Given the description of an element on the screen output the (x, y) to click on. 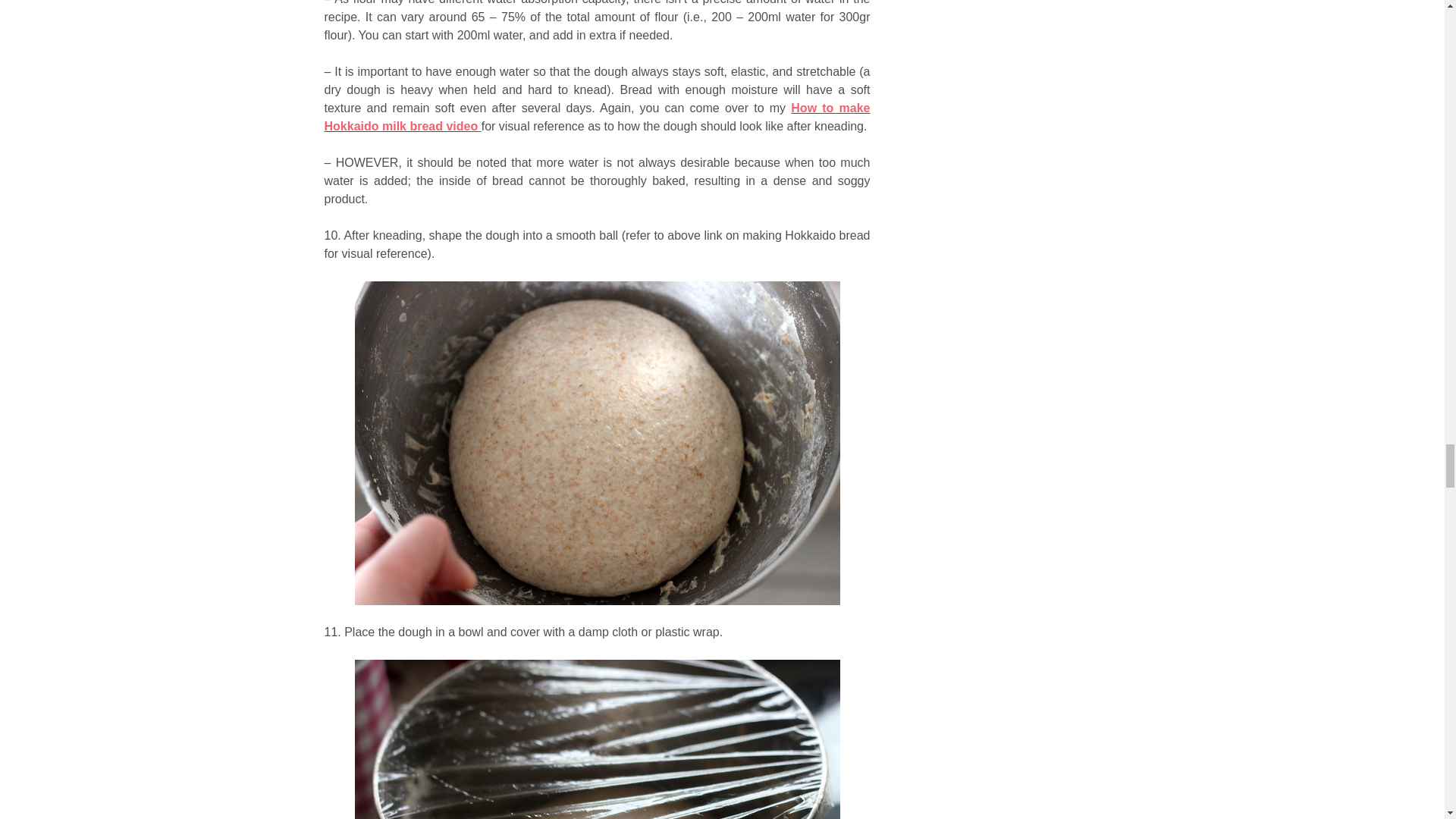
 rose cake 3 by LinhTrang9185, on Flickr (597, 739)
